Given the description of an element on the screen output the (x, y) to click on. 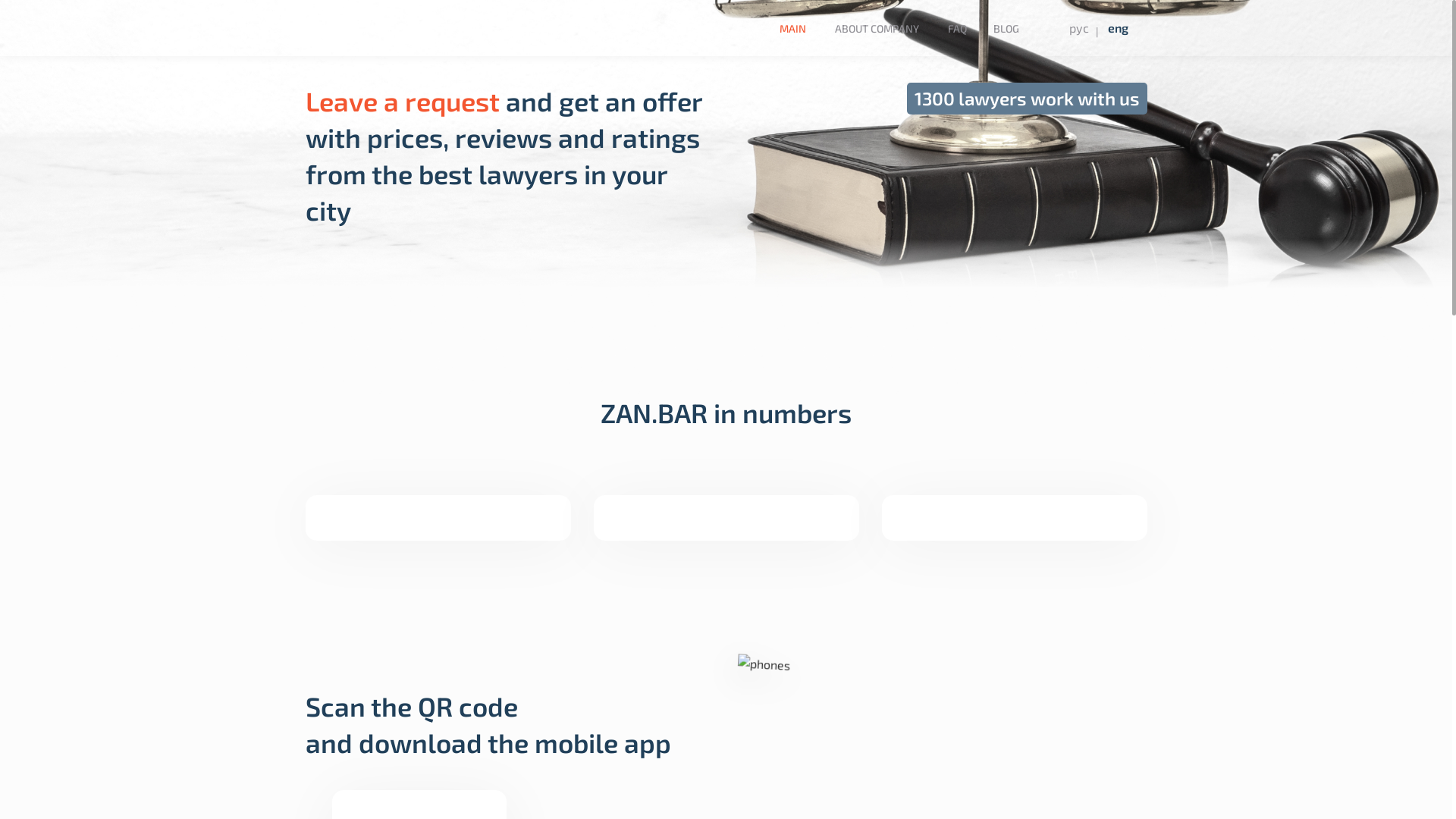
FAQ Element type: text (956, 27)
eng Element type: text (1117, 27)
ABOUT COMPANY Element type: text (876, 27)
BLOG Element type: text (1006, 27)
MAIN Element type: text (792, 27)
